Given the description of an element on the screen output the (x, y) to click on. 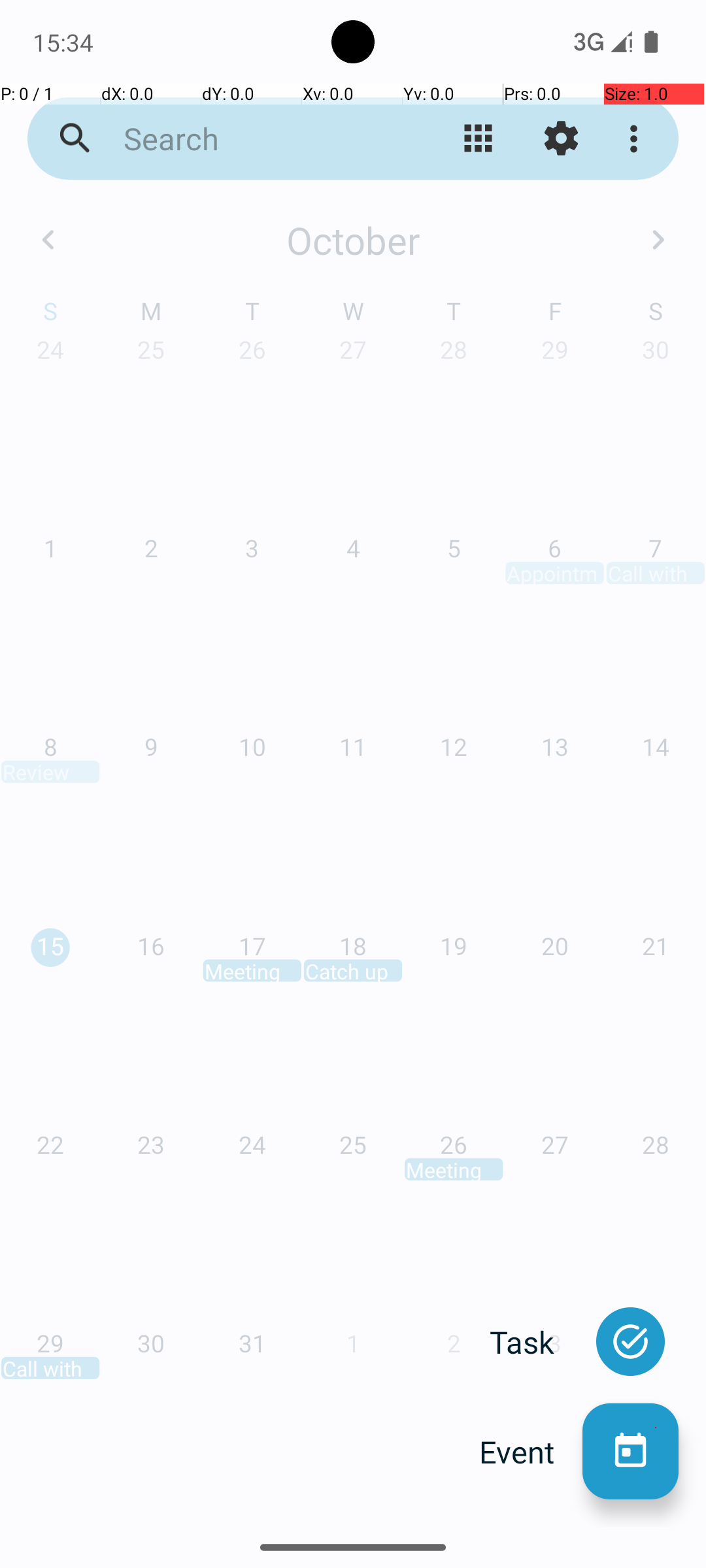
Change view Element type: android.widget.Button (477, 138)
Task Element type: android.widget.TextView (535, 1341)
Event Element type: android.widget.TextView (530, 1451)
New Event Element type: android.widget.ImageButton (630, 1451)
October Element type: android.widget.TextView (352, 239)
